Given the description of an element on the screen output the (x, y) to click on. 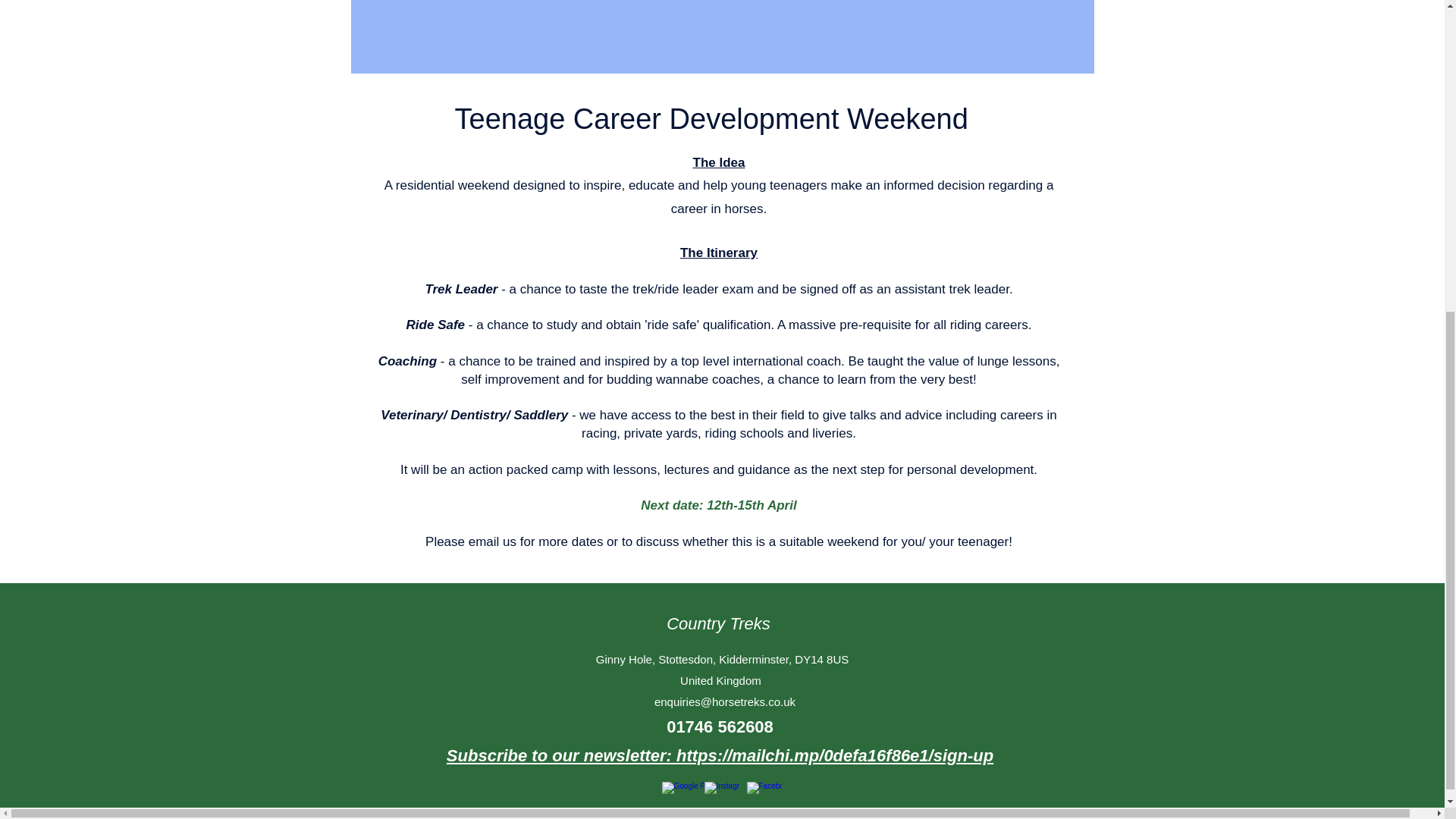
Country Treks (718, 622)
